Given the description of an element on the screen output the (x, y) to click on. 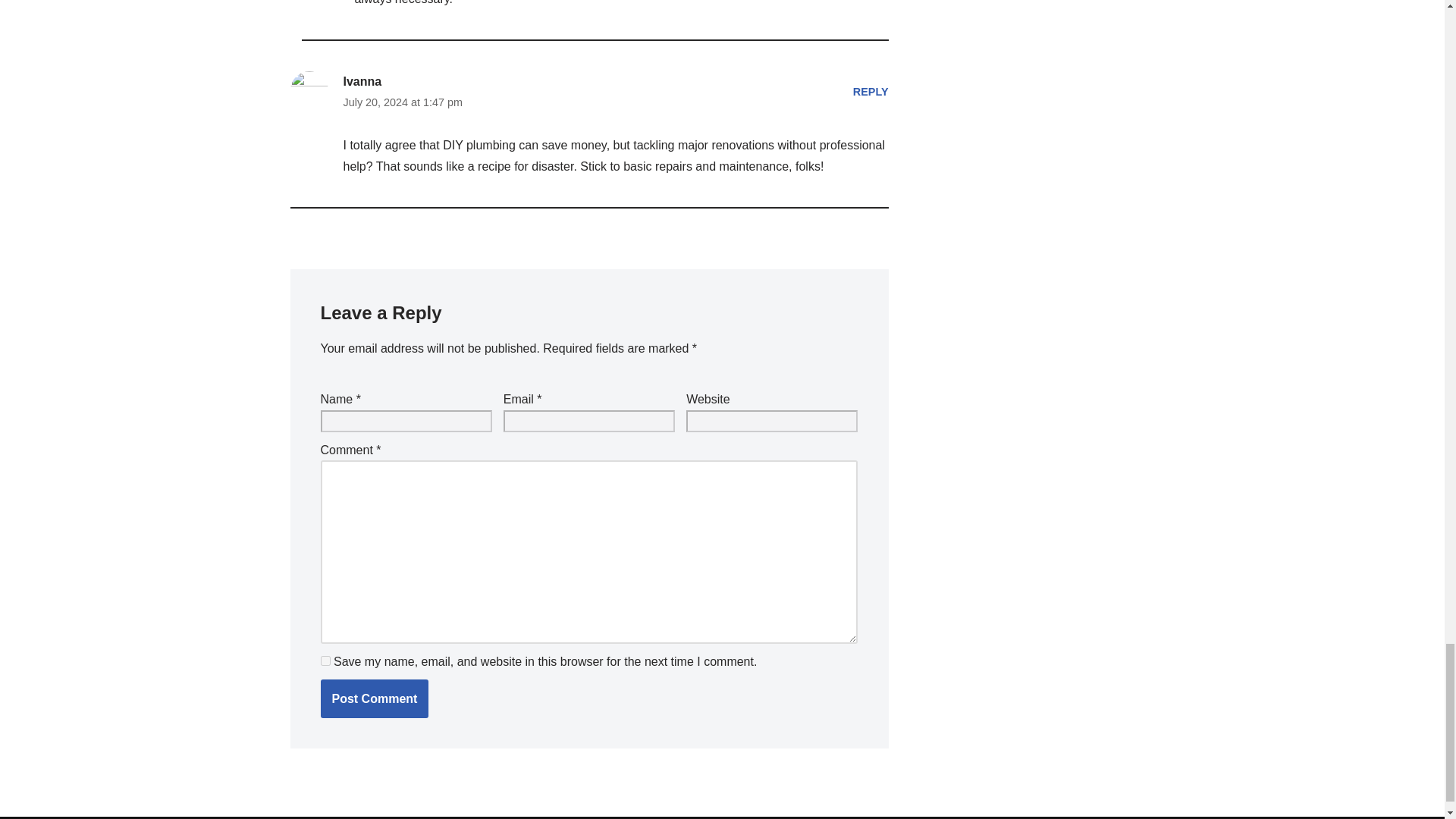
yes (325, 660)
Post Comment (374, 699)
